Given the description of an element on the screen output the (x, y) to click on. 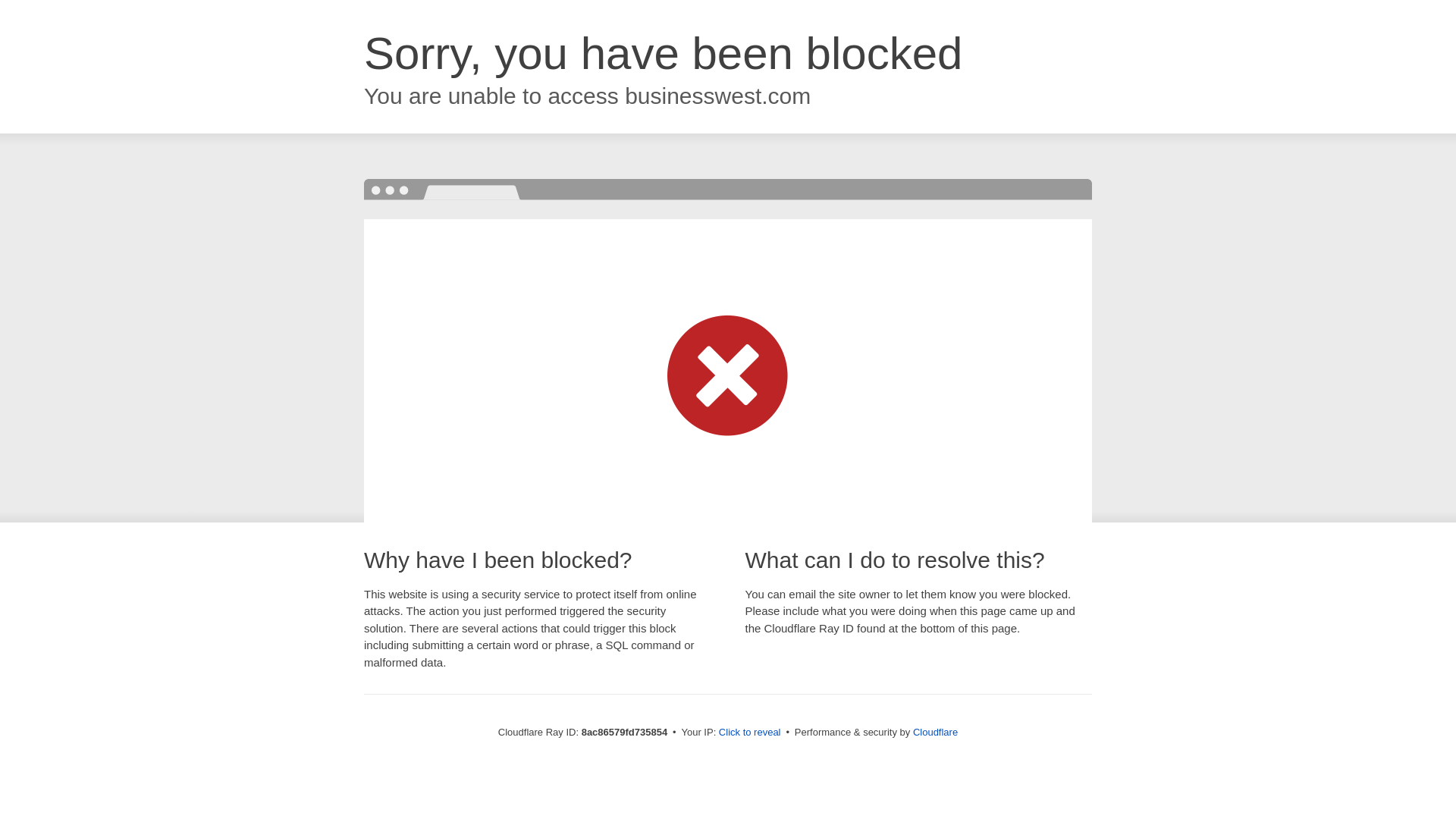
Click to reveal (749, 732)
Cloudflare (935, 731)
